Given the description of an element on the screen output the (x, y) to click on. 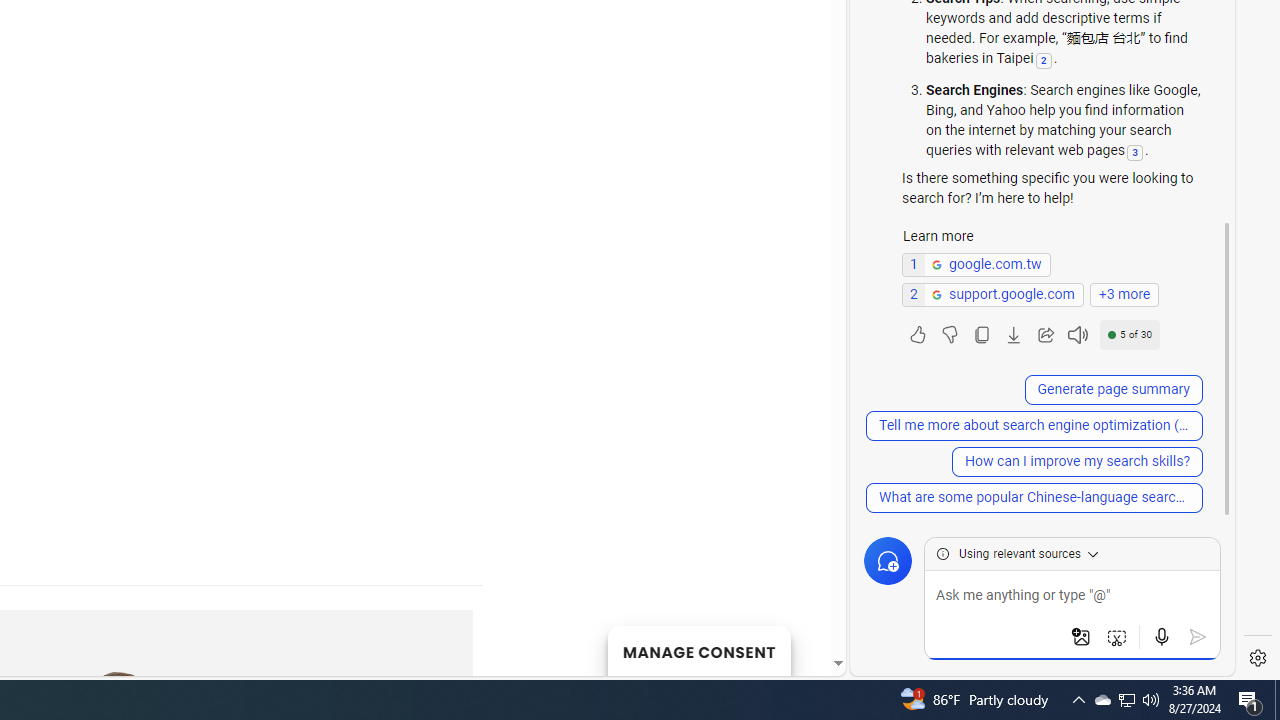
MANAGE CONSENT (698, 650)
